Given the description of an element on the screen output the (x, y) to click on. 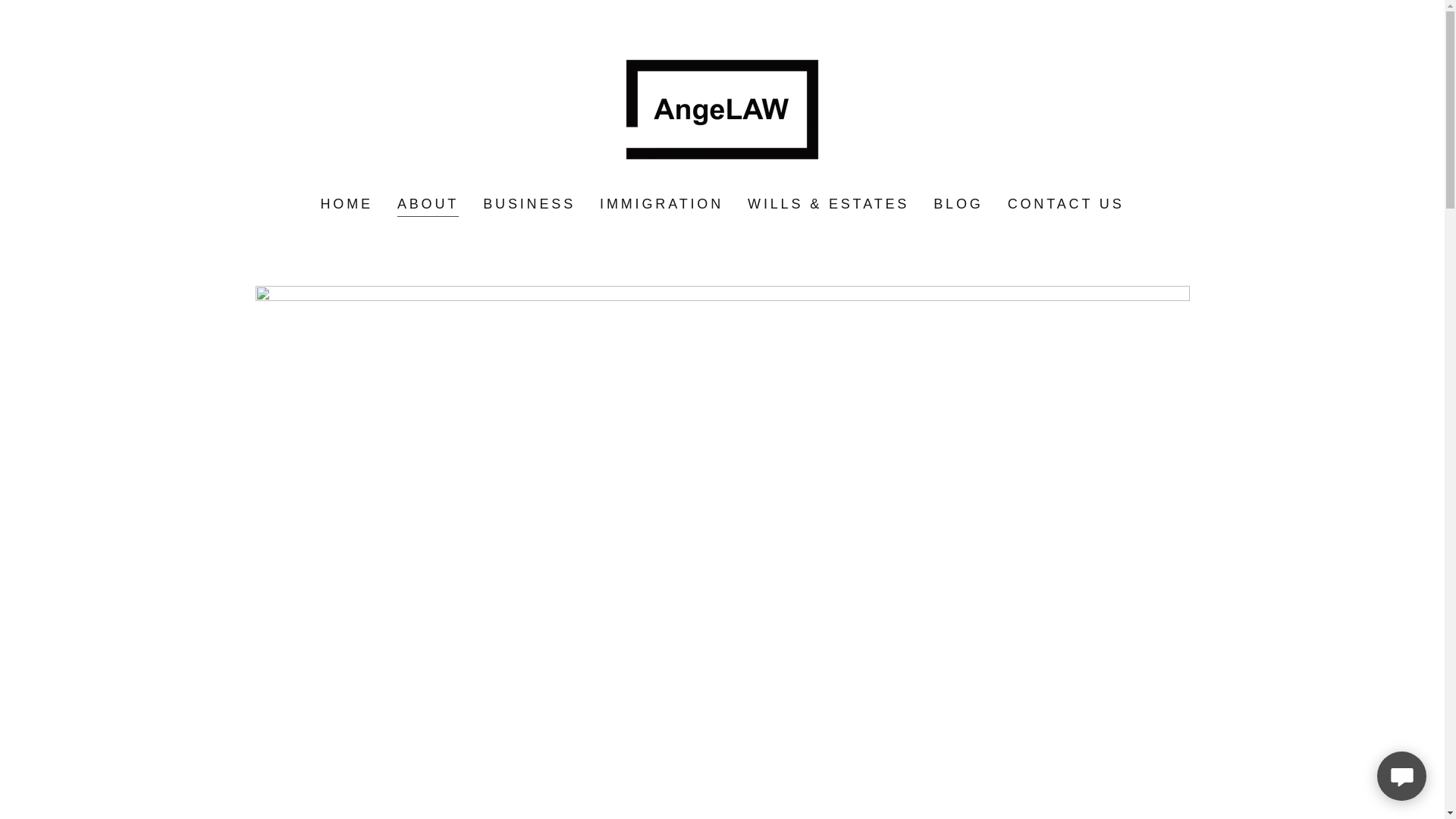
BUSINESS Element type: text (529, 203)
BLOG Element type: text (957, 203)
AngeLAW Element type: hover (721, 107)
ABOUT Element type: text (427, 205)
IMMIGRATION Element type: text (661, 203)
WILLS & ESTATES Element type: text (828, 203)
CONTACT US Element type: text (1066, 203)
HOME Element type: text (345, 203)
